Given the description of an element on the screen output the (x, y) to click on. 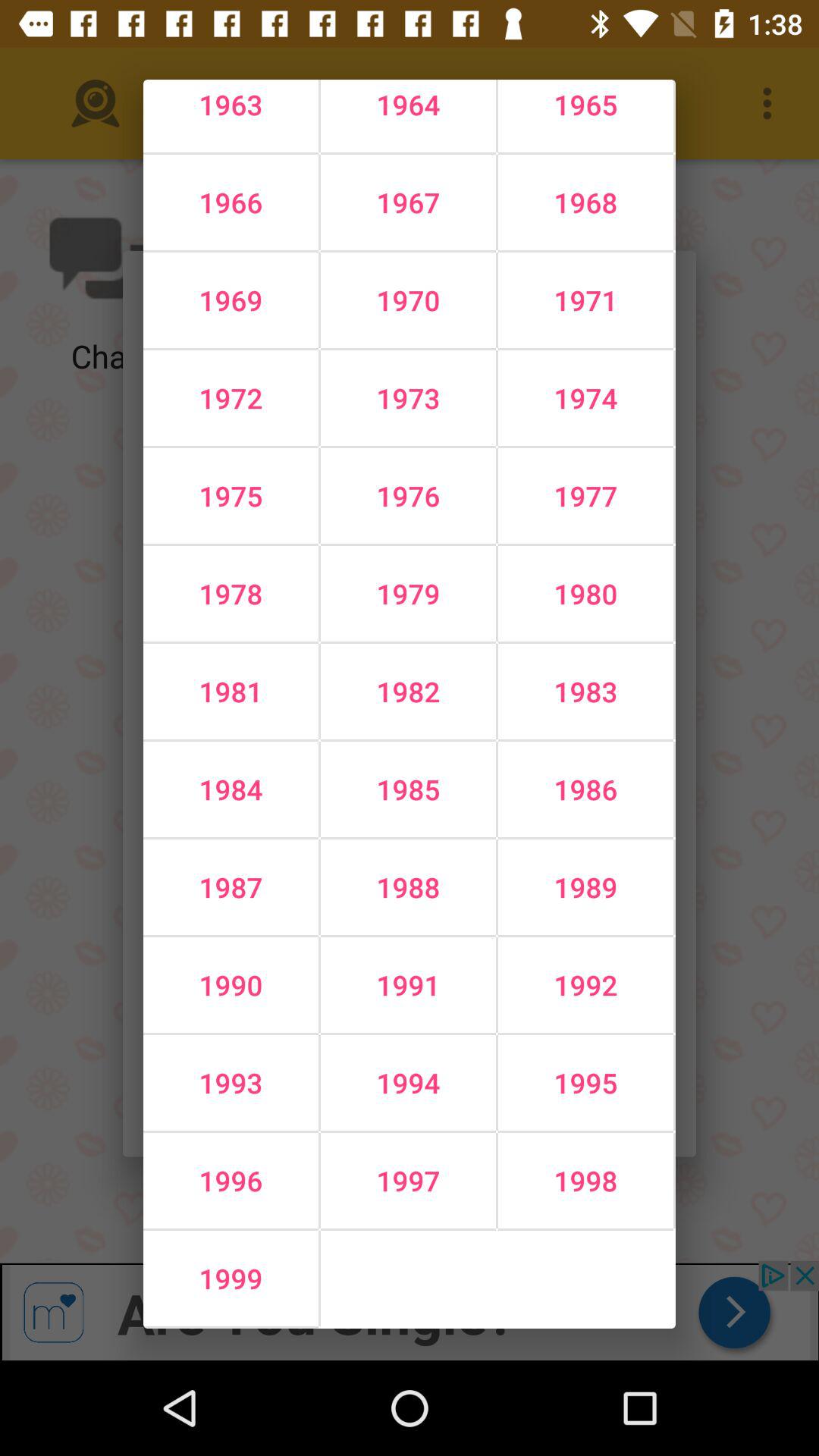
turn on the icon below the 1967 (585, 300)
